Given the description of an element on the screen output the (x, y) to click on. 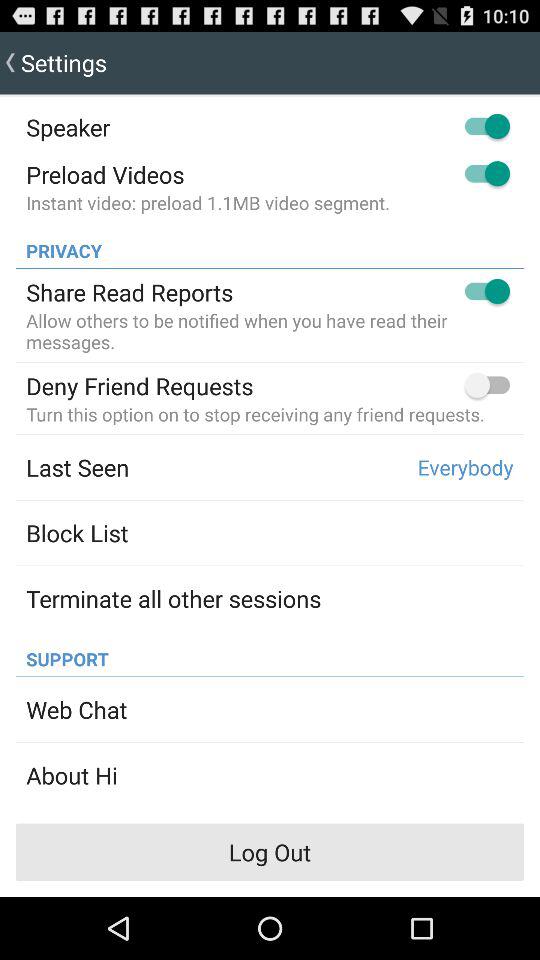
launch the terminate all other item (173, 598)
